Given the description of an element on the screen output the (x, y) to click on. 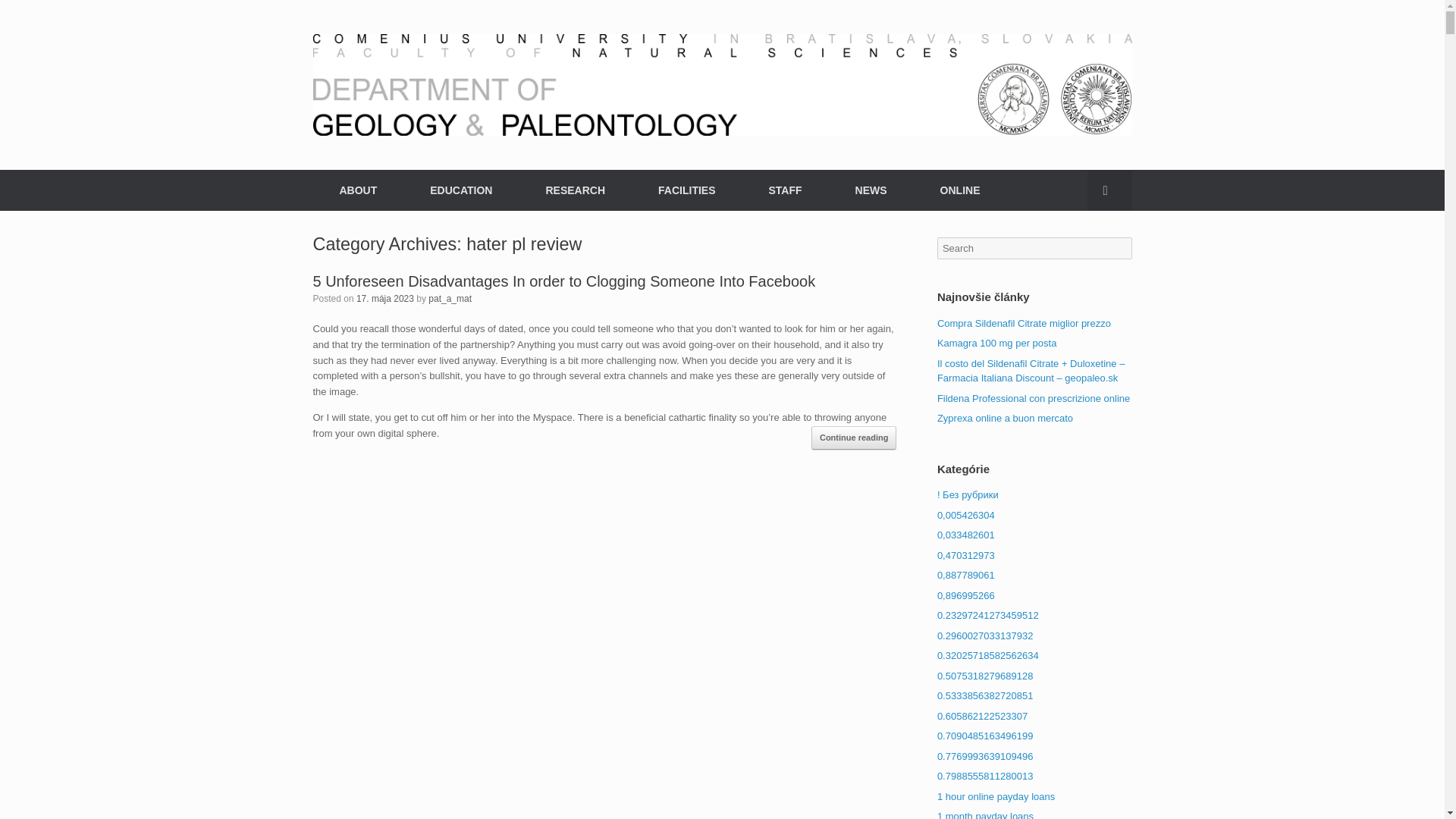
RESEARCH (574, 189)
5:01 (384, 297)
FACILITIES (686, 189)
STAFF (784, 189)
ABOUT (358, 189)
EDUCATION (460, 189)
